Given the description of an element on the screen output the (x, y) to click on. 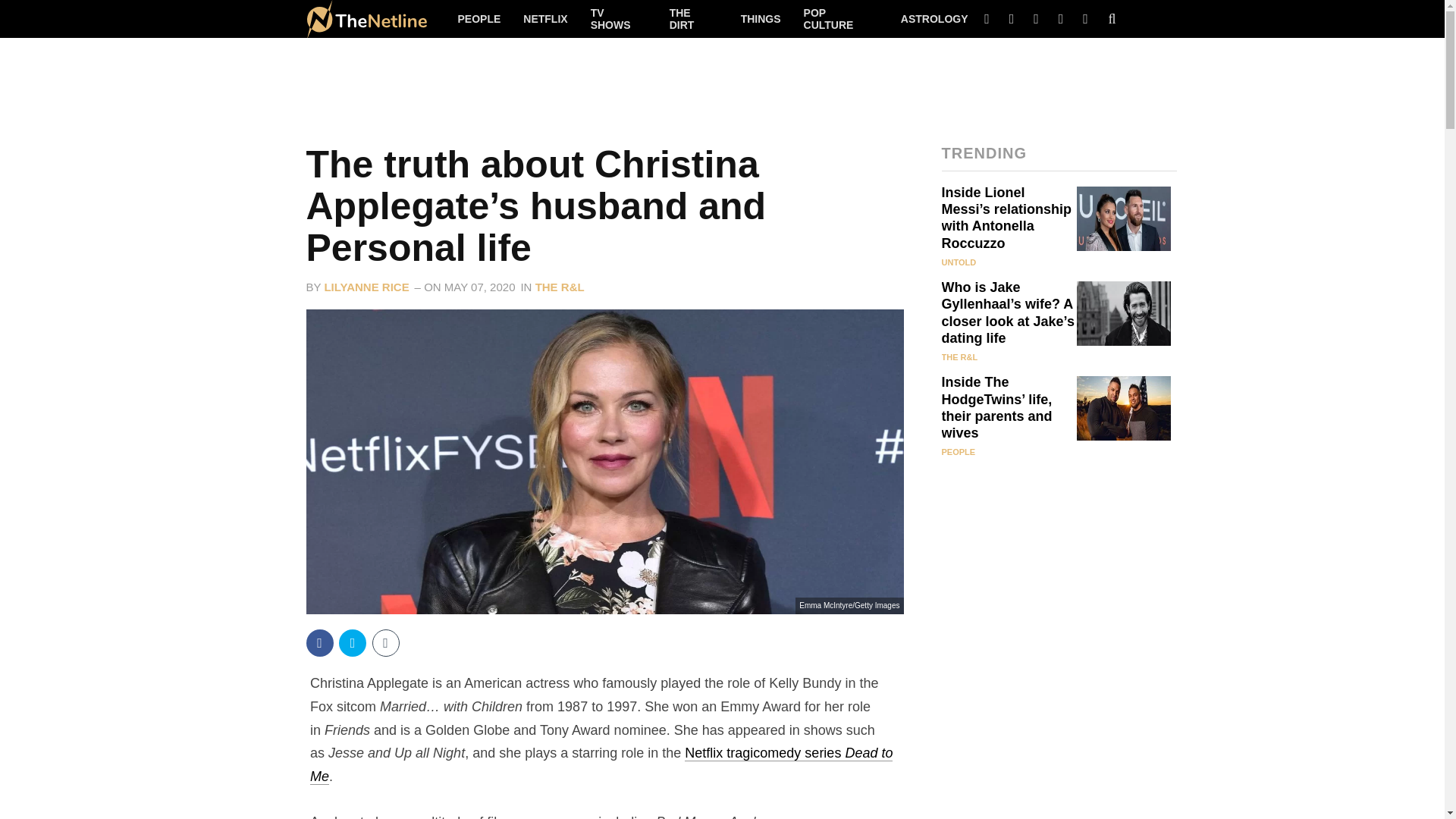
Netflix tragicomedy series Dead to Me (601, 764)
THINGS (761, 18)
THE DIRT (693, 18)
PEOPLE (478, 18)
TV SHOWS (618, 18)
ASTROLOGY (934, 18)
NETFLIX (545, 18)
LILYANNE RICE (366, 286)
POP CULTURE (840, 18)
